Given the description of an element on the screen output the (x, y) to click on. 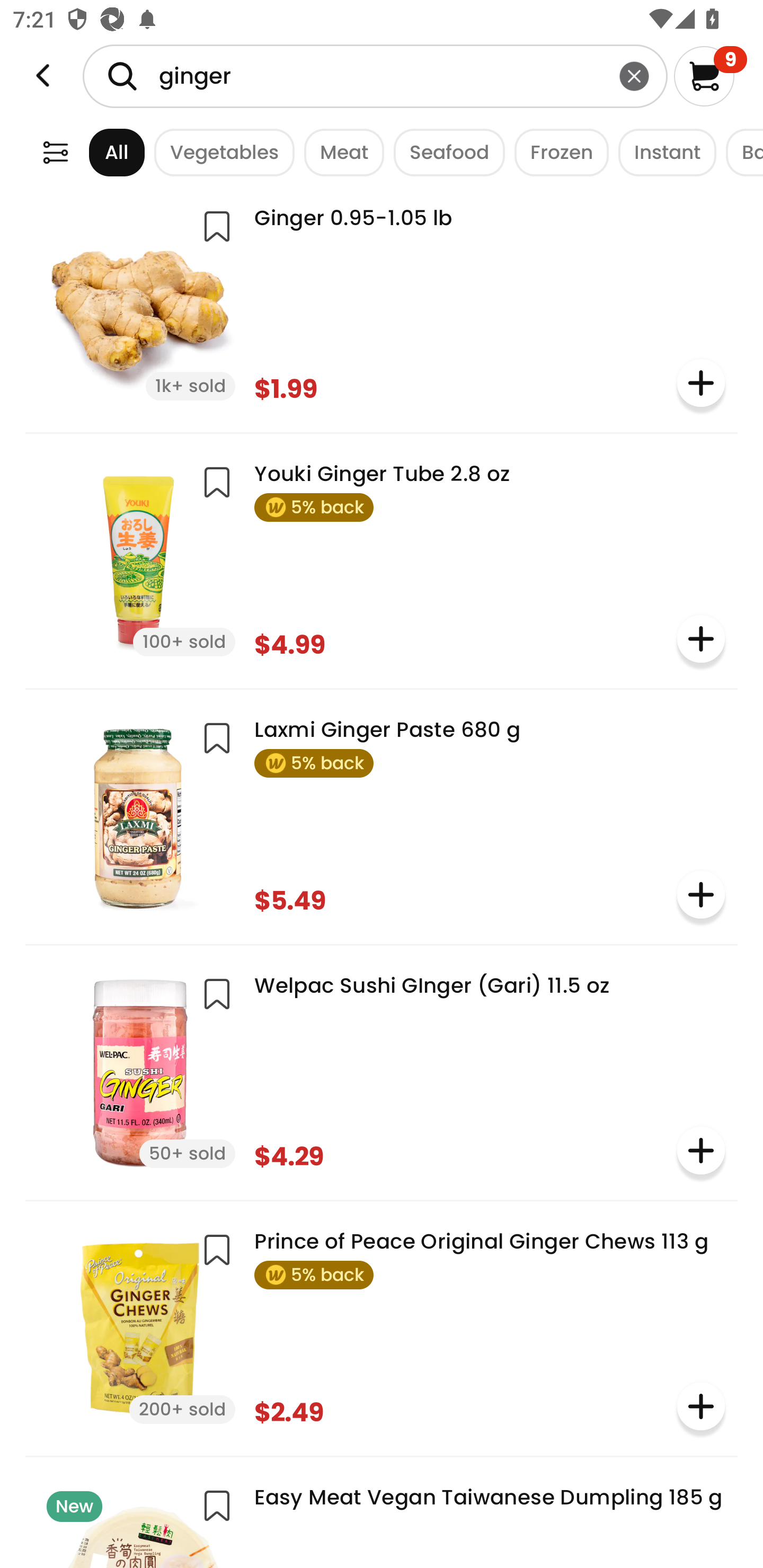
ginger (374, 75)
9 (709, 75)
Weee! (42, 76)
Weee! (55, 151)
All (99, 151)
Vegetables (219, 151)
Meat (338, 151)
Seafood (444, 151)
Frozen (556, 151)
Instant (662, 151)
Ginger 0.95-1.05 lb 1k+ sold $1.99 (381, 304)
Youki Ginger Tube 2.8 oz 5% back 100+ sold $4.99 (381, 559)
Laxmi Ginger Paste 680 g 5% back $5.49 (381, 815)
